Given the description of an element on the screen output the (x, y) to click on. 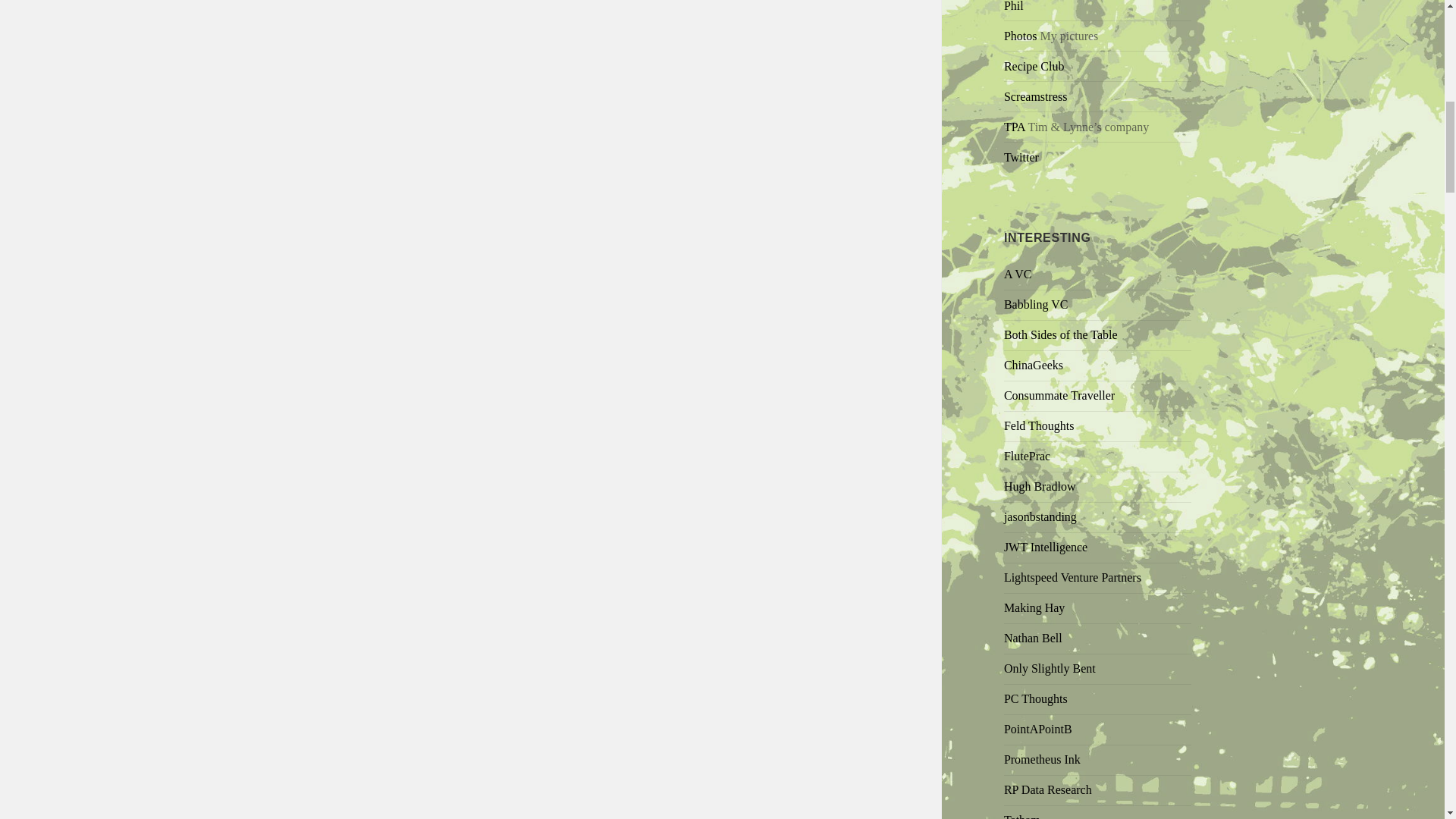
Nathan Bell (1033, 637)
Both Sides of the Table (1061, 334)
Screamstress (1035, 96)
ChinaGeeks (1033, 364)
TPA (1014, 126)
Twitter (1021, 156)
Lightspeed Venture Partners (1072, 576)
JWT Intelligence (1045, 546)
Making Hay (1034, 607)
Hugh Bradlow (1039, 486)
Consummate Traveller (1059, 395)
Phil (1013, 6)
Babbling VC (1036, 304)
Flute practice app (1026, 455)
Recipe Club (1034, 65)
